Given the description of an element on the screen output the (x, y) to click on. 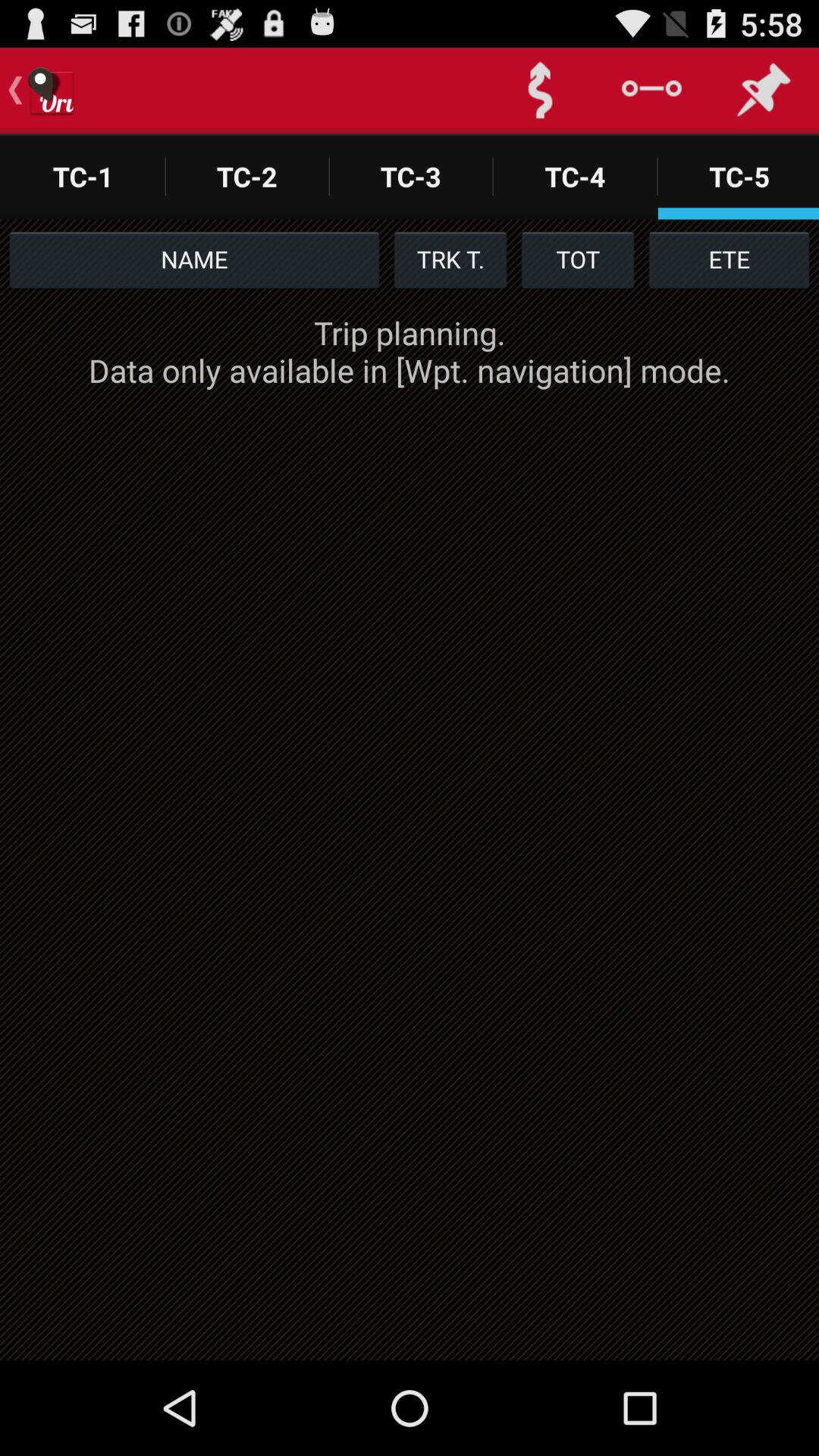
open icon to the right of trk t. icon (577, 259)
